Given the description of an element on the screen output the (x, y) to click on. 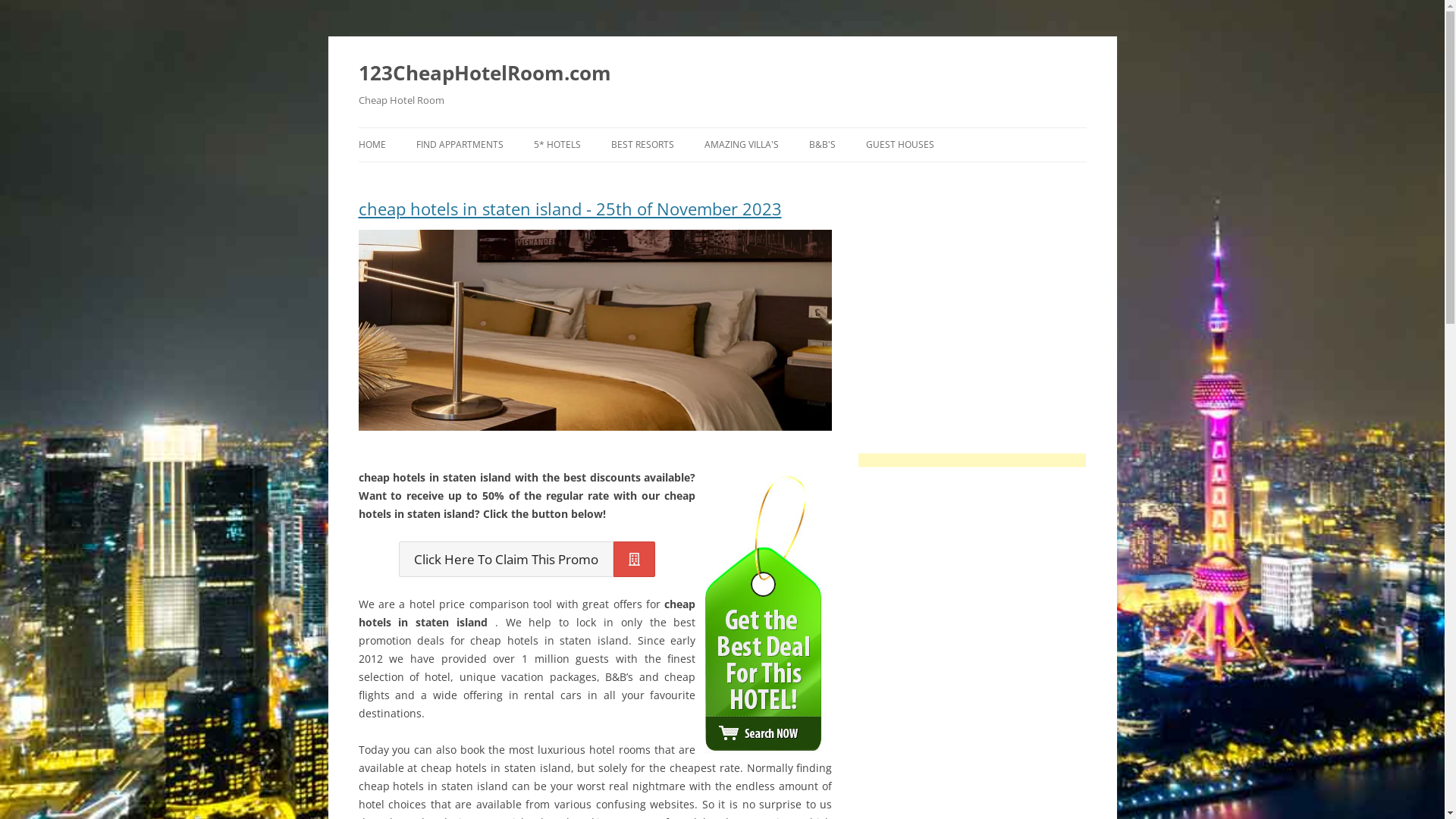
AMAZING VILLA'S Element type: text (740, 144)
cheap hotels in staten island - 25th of November 2023 Element type: text (594, 214)
GUEST HOUSES Element type: text (900, 144)
Skip to content Element type: text (721, 127)
5* HOTELS Element type: text (556, 144)
HOME Element type: text (371, 144)
FIND APPARTMENTS Element type: text (458, 144)
B&B'S Element type: text (821, 144)
Click Here To Claim This Promo Element type: text (526, 559)
BEST RESORTS Element type: text (642, 144)
123CheapHotelRoom.com Element type: text (483, 72)
